Given the description of an element on the screen output the (x, y) to click on. 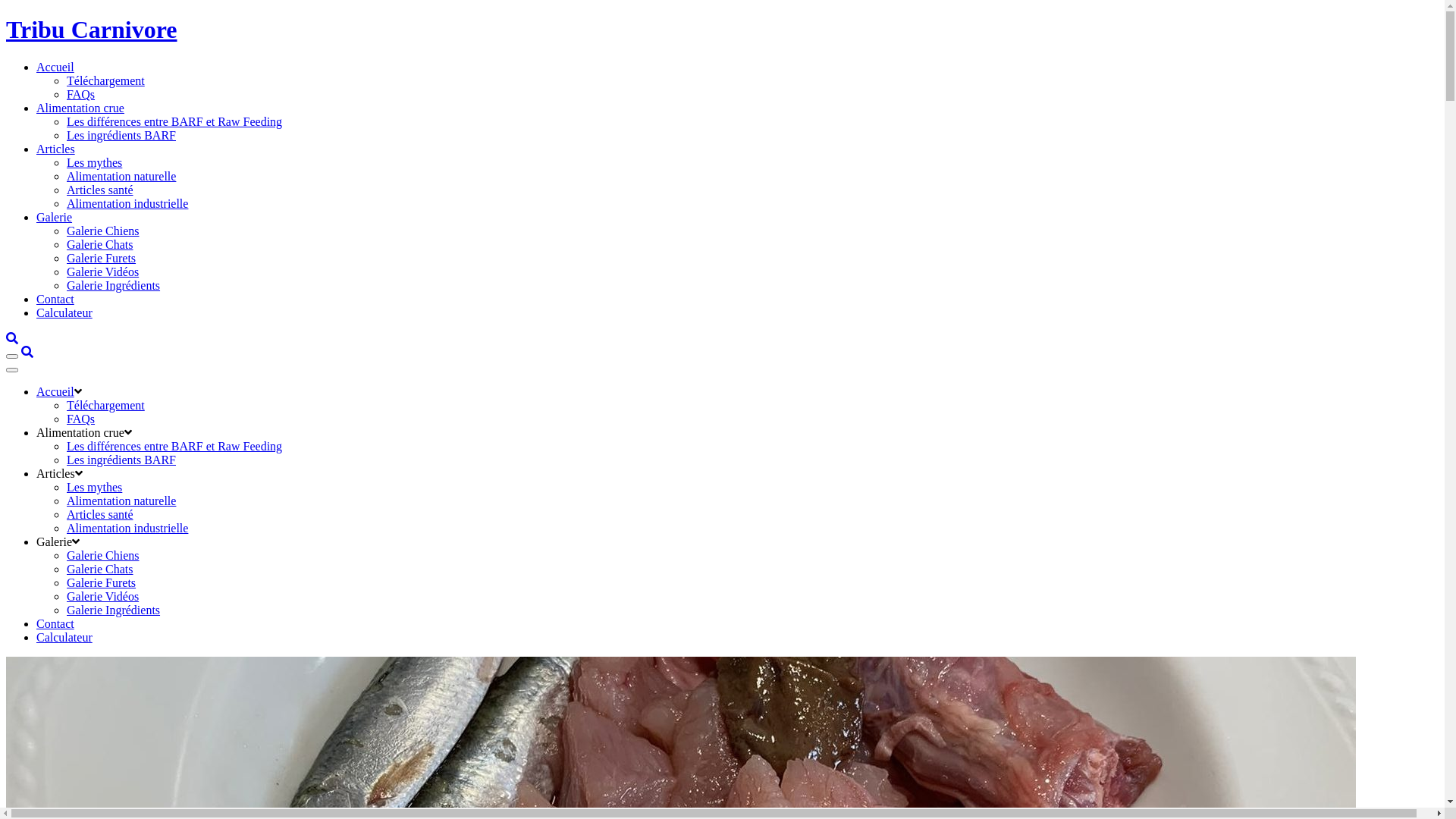
FAQs Element type: text (80, 418)
Galerie Chiens Element type: text (102, 555)
Alimentation industrielle Element type: text (127, 527)
Alimentation naturelle Element type: text (120, 500)
FAQs Element type: text (80, 93)
Galerie Furets Element type: text (100, 582)
Accueil Element type: text (55, 391)
Contact Element type: text (55, 298)
Articles Element type: text (55, 148)
Galerie Furets Element type: text (100, 257)
Accueil Element type: text (55, 66)
Galerie Chiens Element type: text (102, 230)
Alimentation naturelle Element type: text (120, 175)
Les mythes Element type: text (94, 486)
Galerie Chats Element type: text (99, 244)
Calculateur Element type: text (64, 312)
Alimentation industrielle Element type: text (127, 203)
Tribu Carnivore Element type: text (722, 29)
Calculateur Element type: text (64, 636)
Galerie Chats Element type: text (99, 568)
Alimentation crue Element type: text (80, 107)
Galerie Element type: text (54, 216)
Les mythes Element type: text (94, 162)
Contact Element type: text (55, 623)
